Given the description of an element on the screen output the (x, y) to click on. 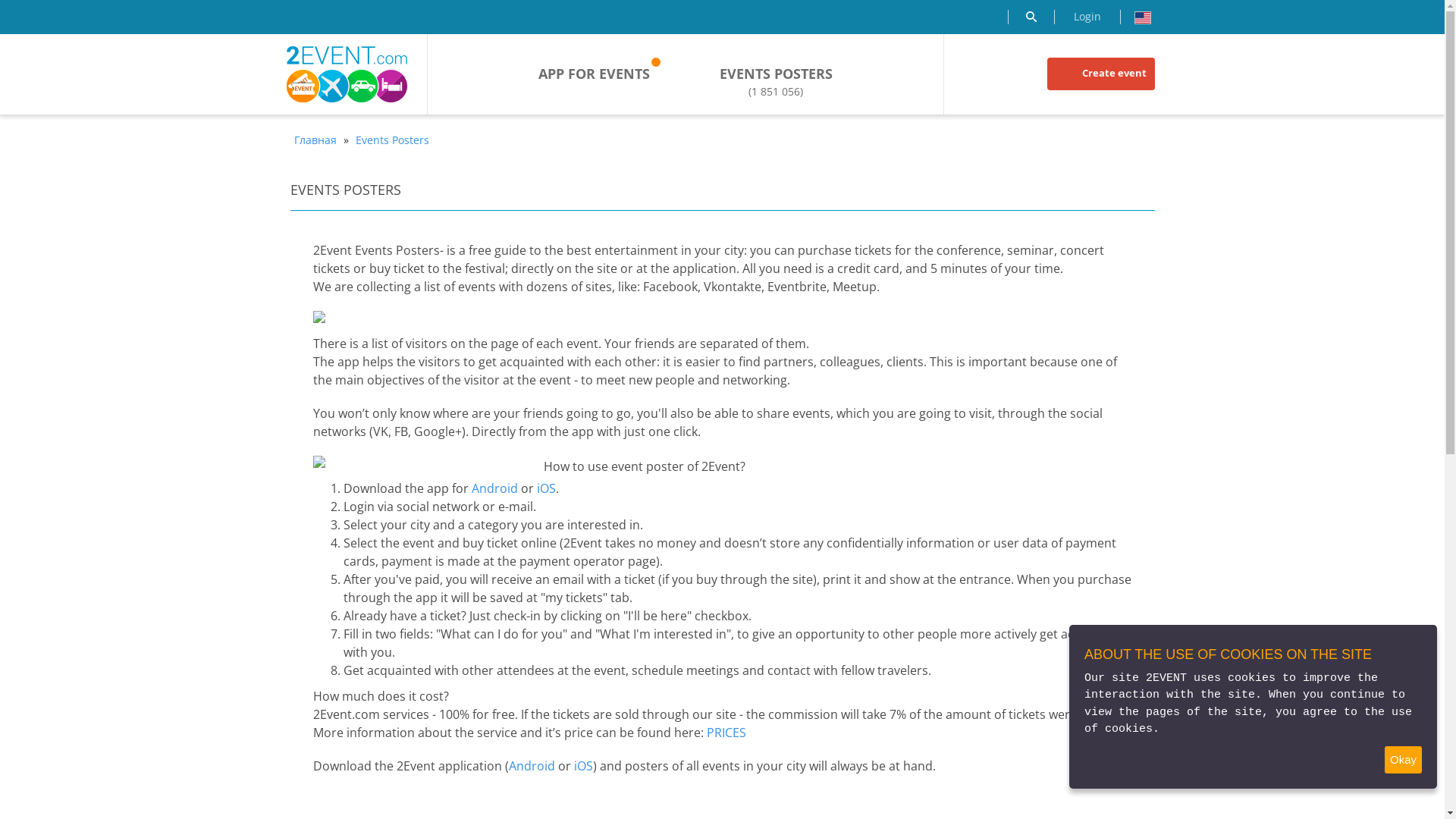
Search Element type: hover (1030, 16)
Android Element type: text (531, 765)
Create event Element type: text (1100, 73)
Events Posters Element type: text (392, 139)
PRICES Element type: text (726, 732)
Android Element type: text (494, 488)
Login Element type: text (1087, 16)
Okay Element type: text (1402, 760)
iOS Element type: text (545, 488)
APP FOR EVENTS Element type: text (593, 73)
EVENTS POSTERS
(1 851 056) Element type: text (776, 81)
iOS Element type: text (582, 765)
